Given the description of an element on the screen output the (x, y) to click on. 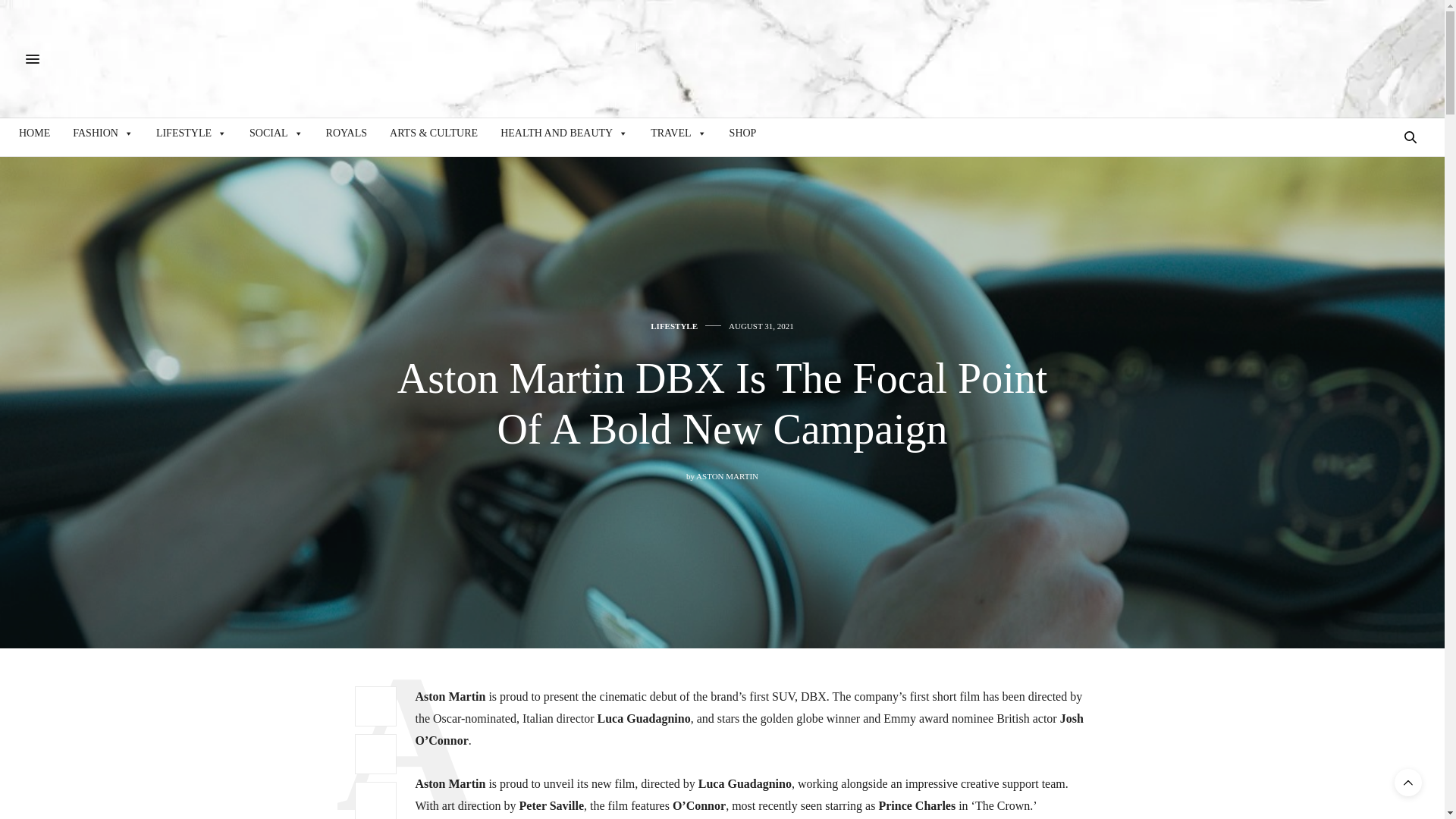
Posts by Aston Martin (726, 475)
Salon Prive Mag (174, 58)
